Given the description of an element on the screen output the (x, y) to click on. 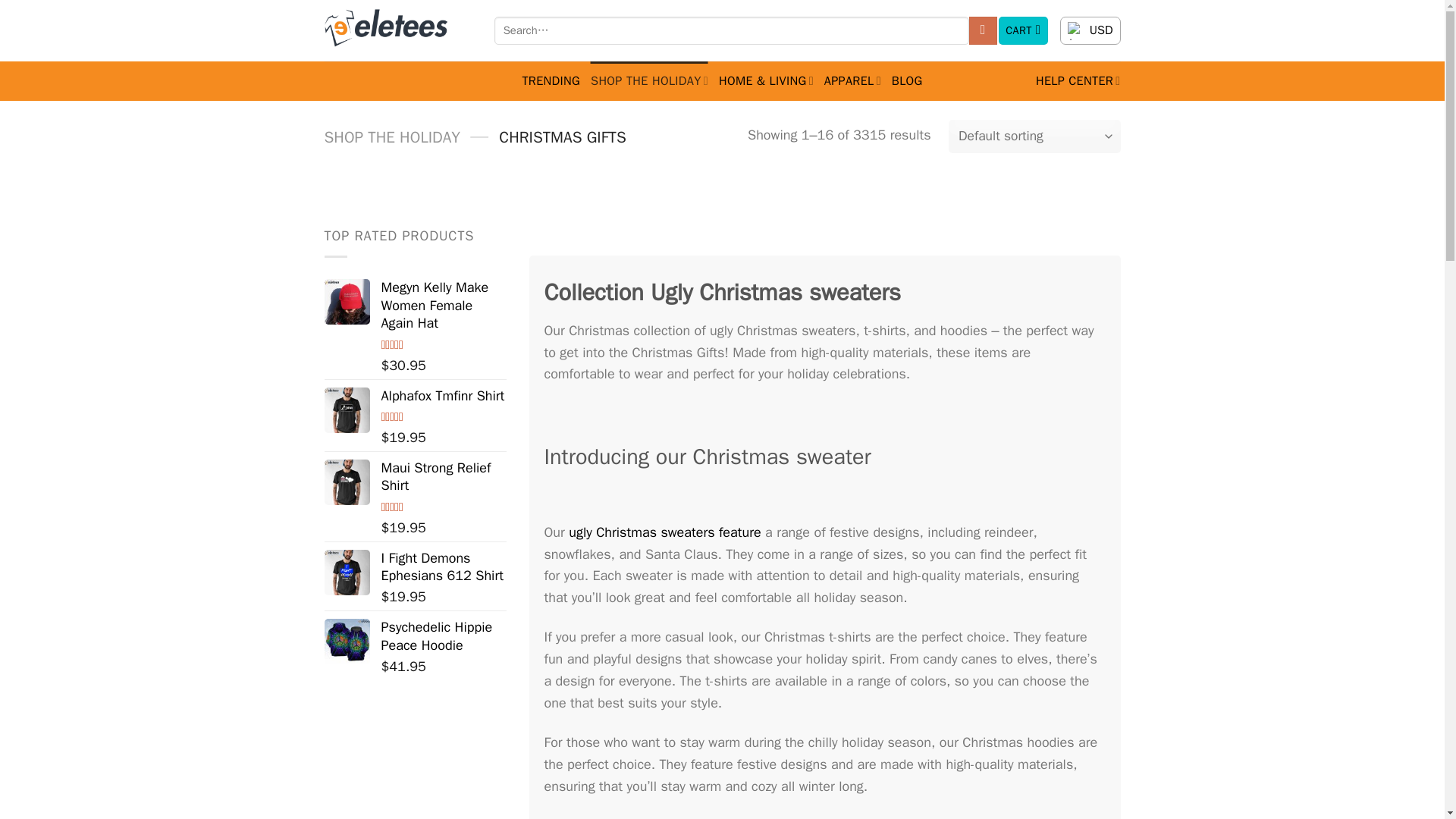
SHOP THE HOLIDAY (392, 137)
Cart (1023, 30)
BLOG (907, 80)
CART (1023, 30)
Megyn Kelly Make Women Female Again Hat (346, 301)
Alphafox Tmfinr Shirt (346, 410)
I Fight Demons Ephesians 612 Shirt (346, 572)
SHOP THE HOLIDAY (649, 80)
HELP CENTER (1078, 80)
Eletees - Clothes that make a statement (397, 30)
Psychedelic Hippie Peace Hoodie (346, 641)
Search (983, 30)
Maui Strong Relief Shirt (346, 482)
APPAREL (852, 80)
TRENDING (550, 80)
